Given the description of an element on the screen output the (x, y) to click on. 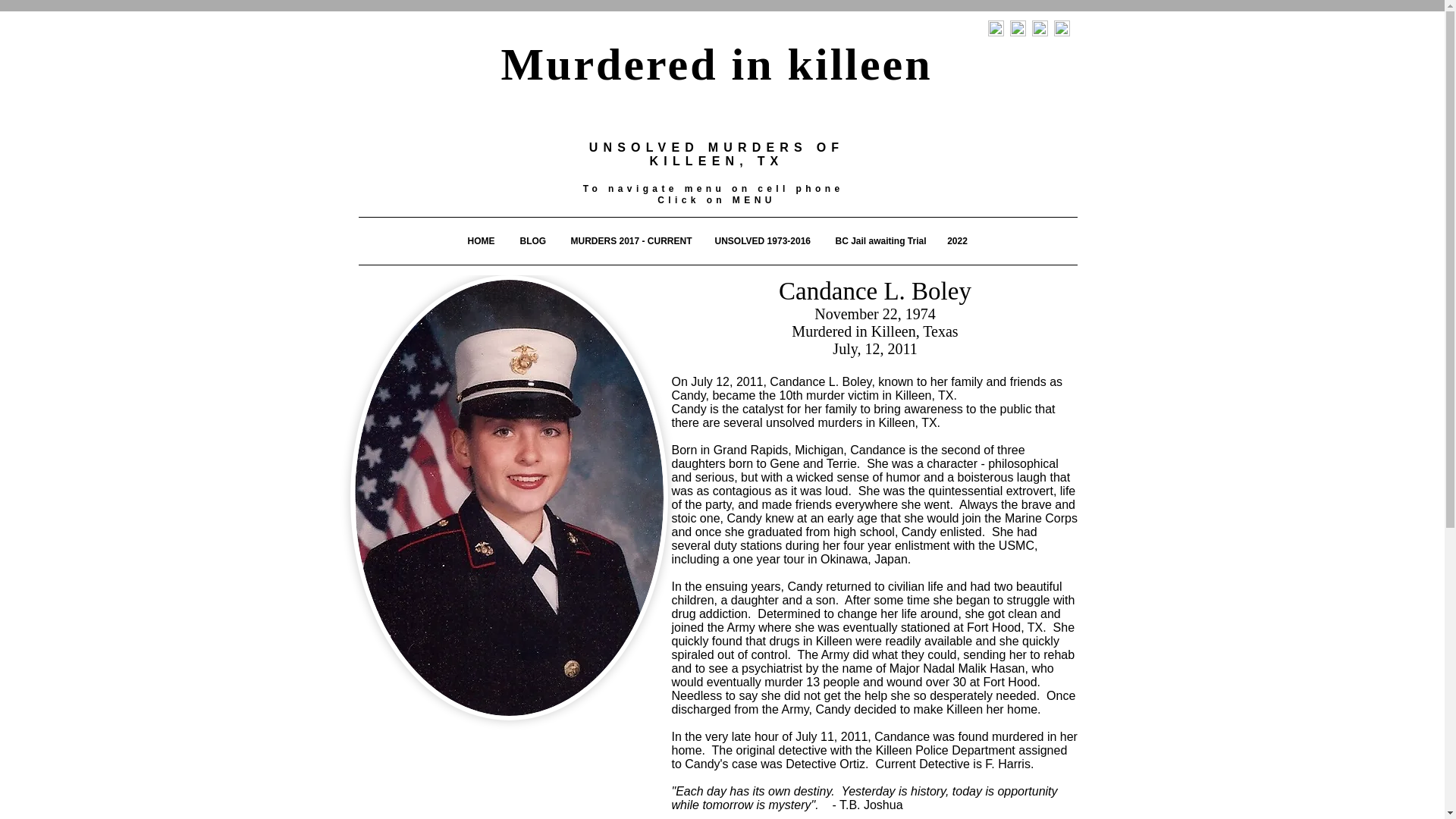
2022 (957, 240)
Murdered in killeen (715, 64)
BLOG (531, 240)
MURDERS 2017 - CURRENT (629, 240)
HOME (480, 240)
UNSOLVED 1973-2016 (761, 240)
BC Jail awaiting Trial (877, 240)
UNSOLVED MURDERS OF KILLEEN, TX (716, 153)
